Given the description of an element on the screen output the (x, y) to click on. 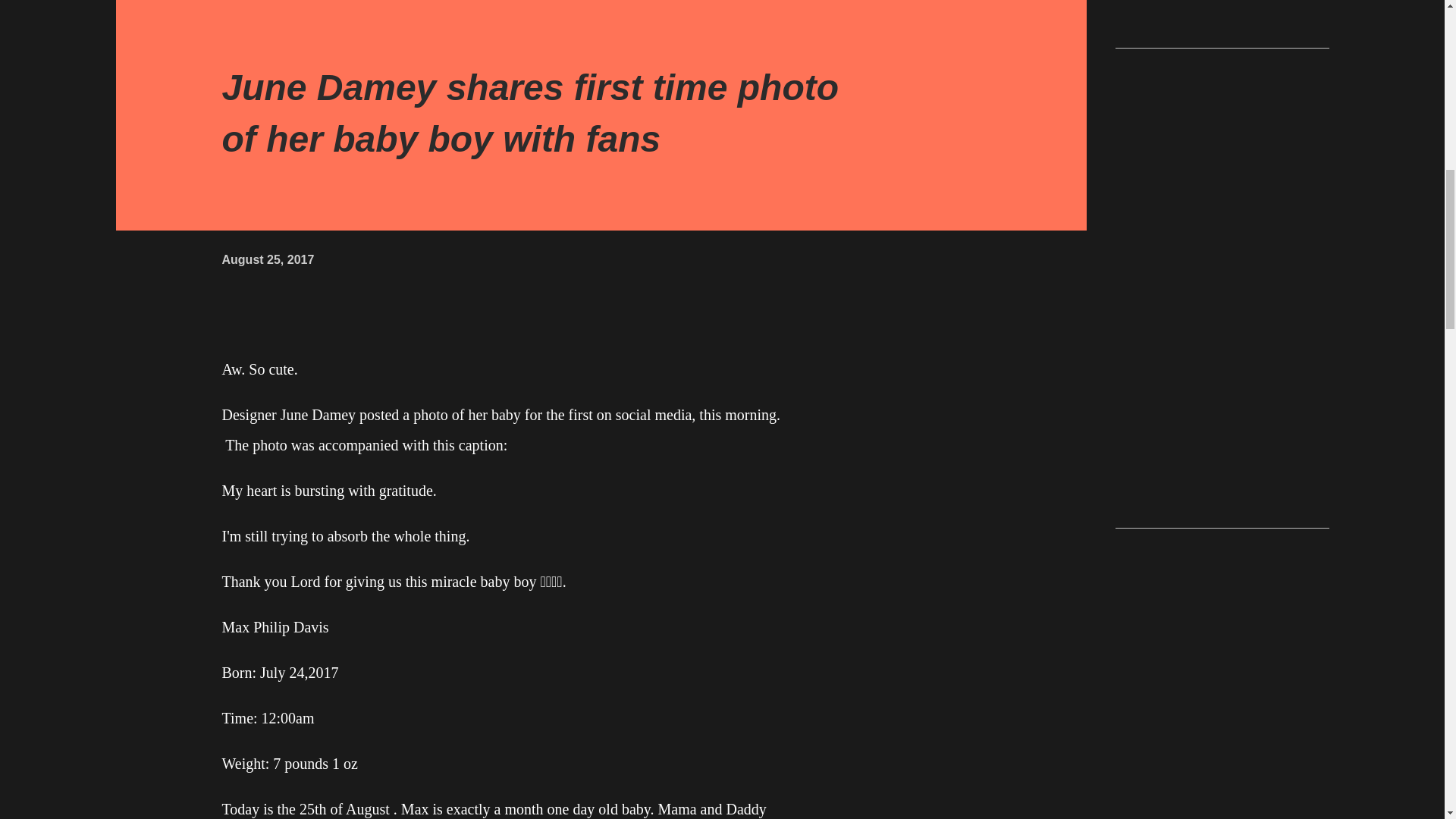
August 25, 2017 (267, 259)
permanent link (267, 259)
